Given the description of an element on the screen output the (x, y) to click on. 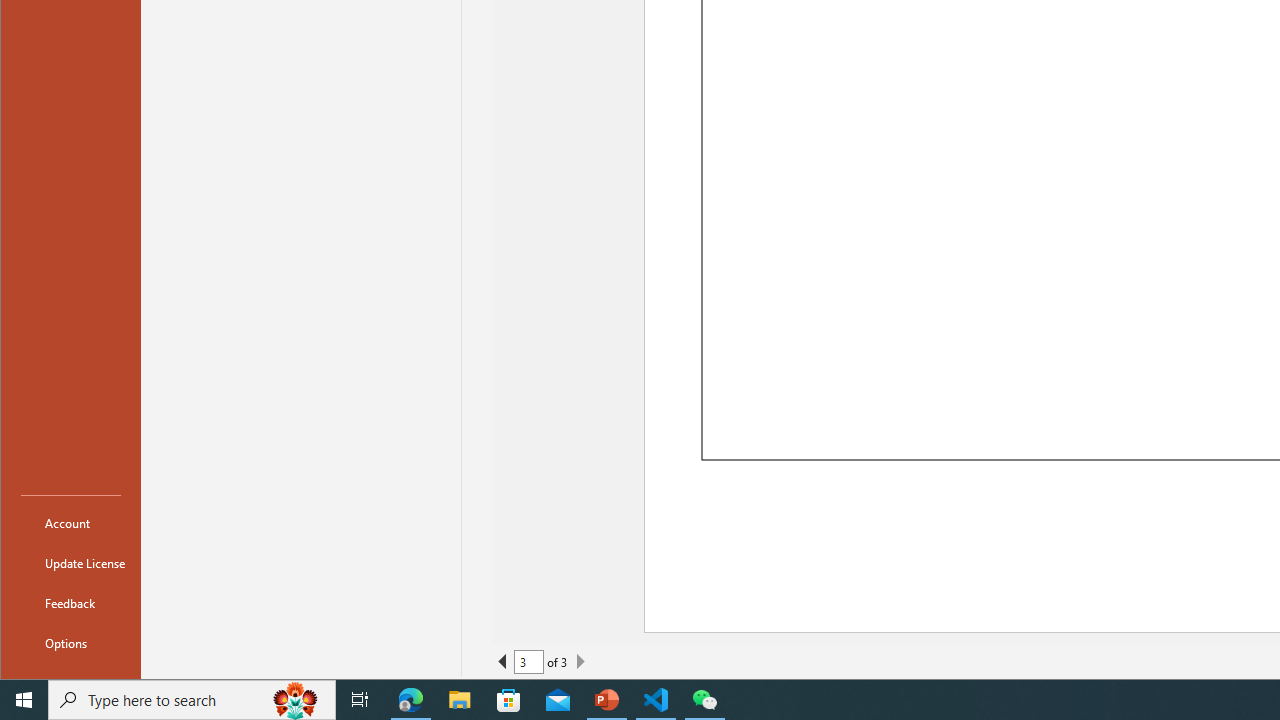
PowerPoint - 1 running window (607, 699)
File Explorer (460, 699)
